Given the description of an element on the screen output the (x, y) to click on. 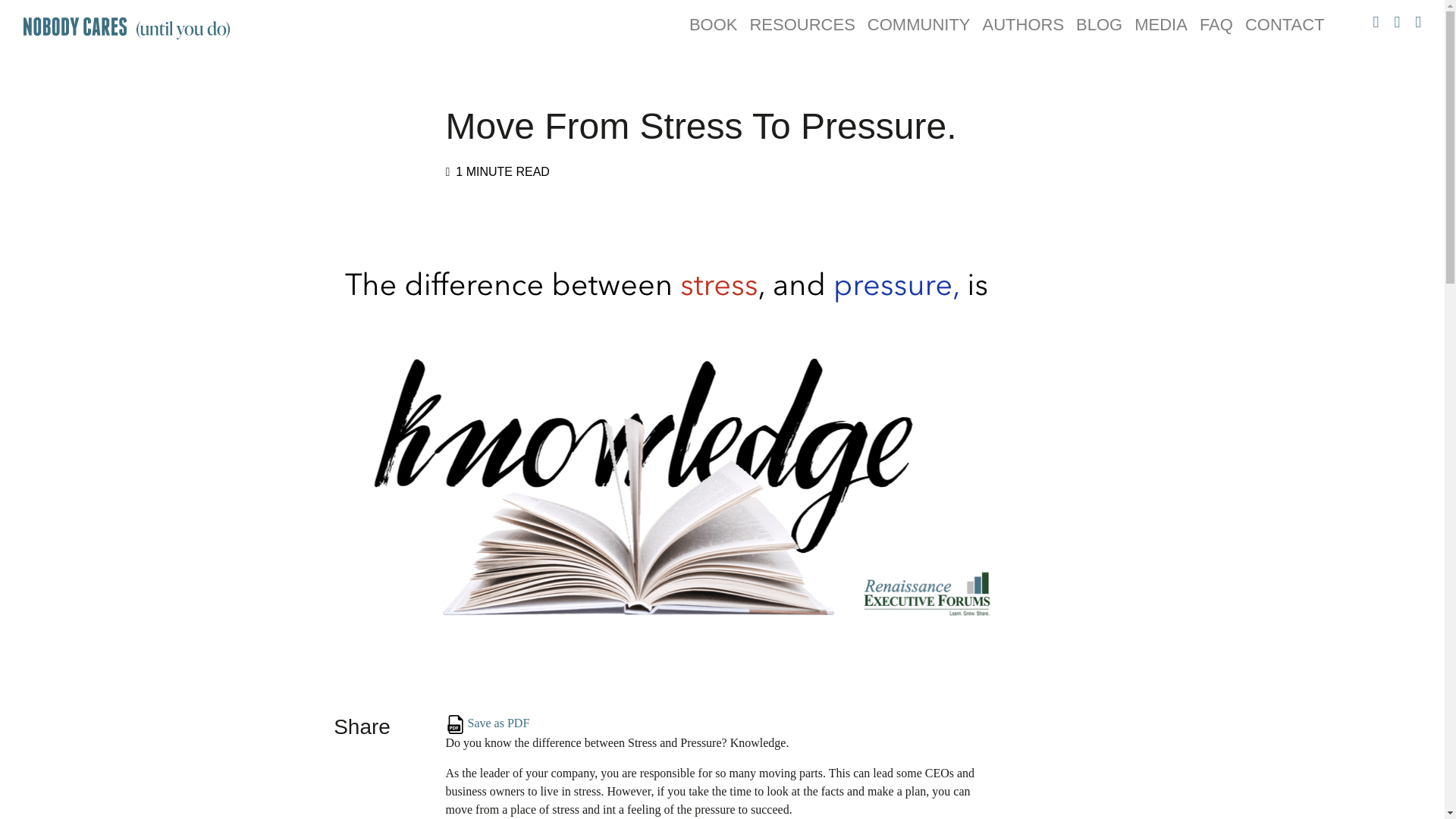
COMMUNITY (918, 24)
Authors (1023, 24)
BLOG (1099, 24)
Media (1160, 24)
BOOK (713, 24)
MEDIA (1160, 24)
RESOURCES (801, 24)
Blog (1099, 24)
FAQ (1216, 24)
Contact (1284, 24)
CONTACT (1284, 24)
Book (713, 24)
Community (918, 24)
Save as PDF (454, 723)
AUTHORS (1023, 24)
